Given the description of an element on the screen output the (x, y) to click on. 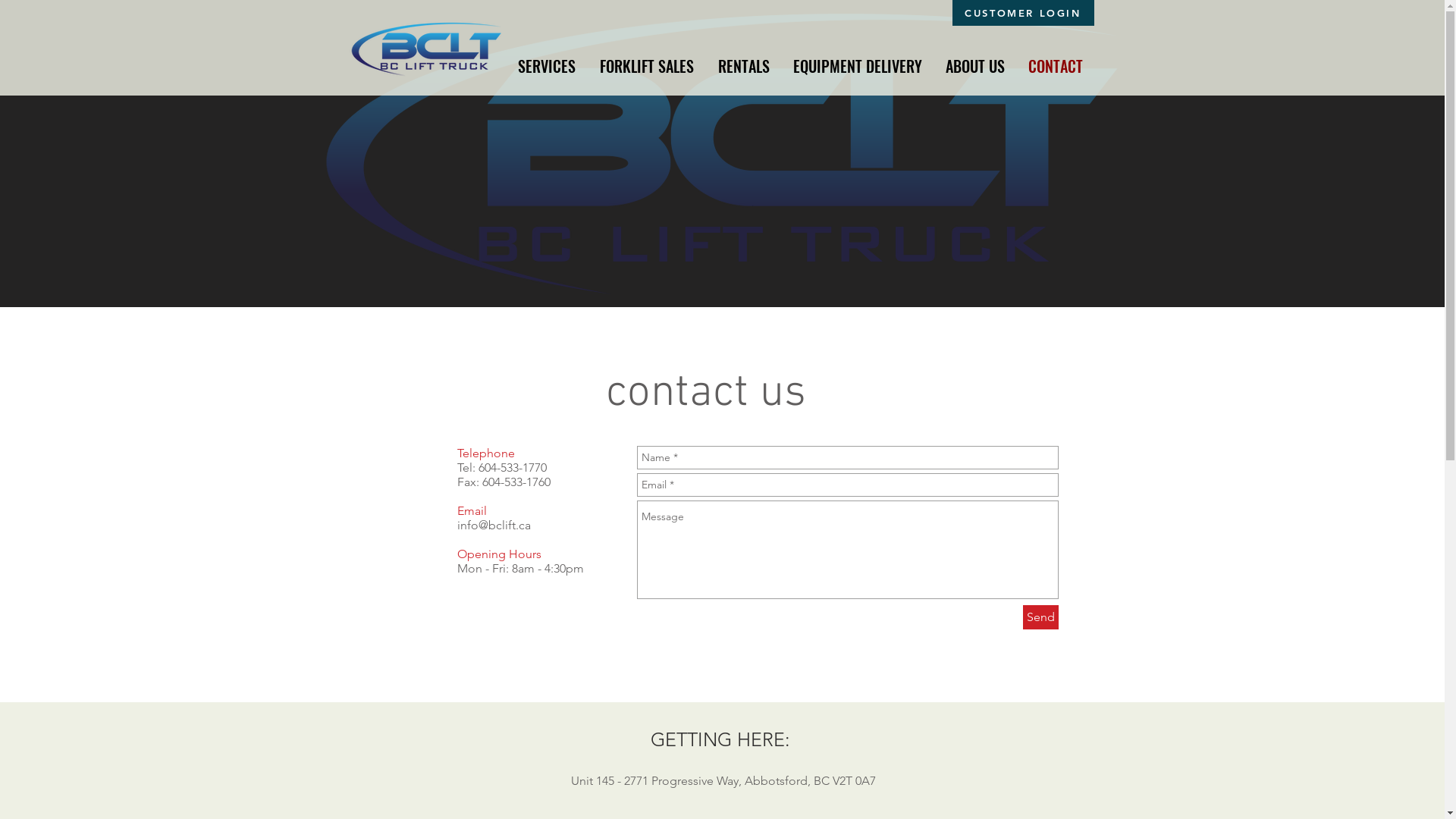
CUSTOMER LOGIN Element type: text (1023, 12)
RENTALS Element type: text (743, 65)
info@bclift.ca Element type: text (493, 524)
FORKLIFT SALES Element type: text (645, 65)
CONTACT Element type: text (1055, 65)
EQUIPMENT DELIVERY Element type: text (857, 65)
SERVICES Element type: text (545, 65)
Send Element type: text (1039, 617)
ABOUT US Element type: text (975, 65)
